Given the description of an element on the screen output the (x, y) to click on. 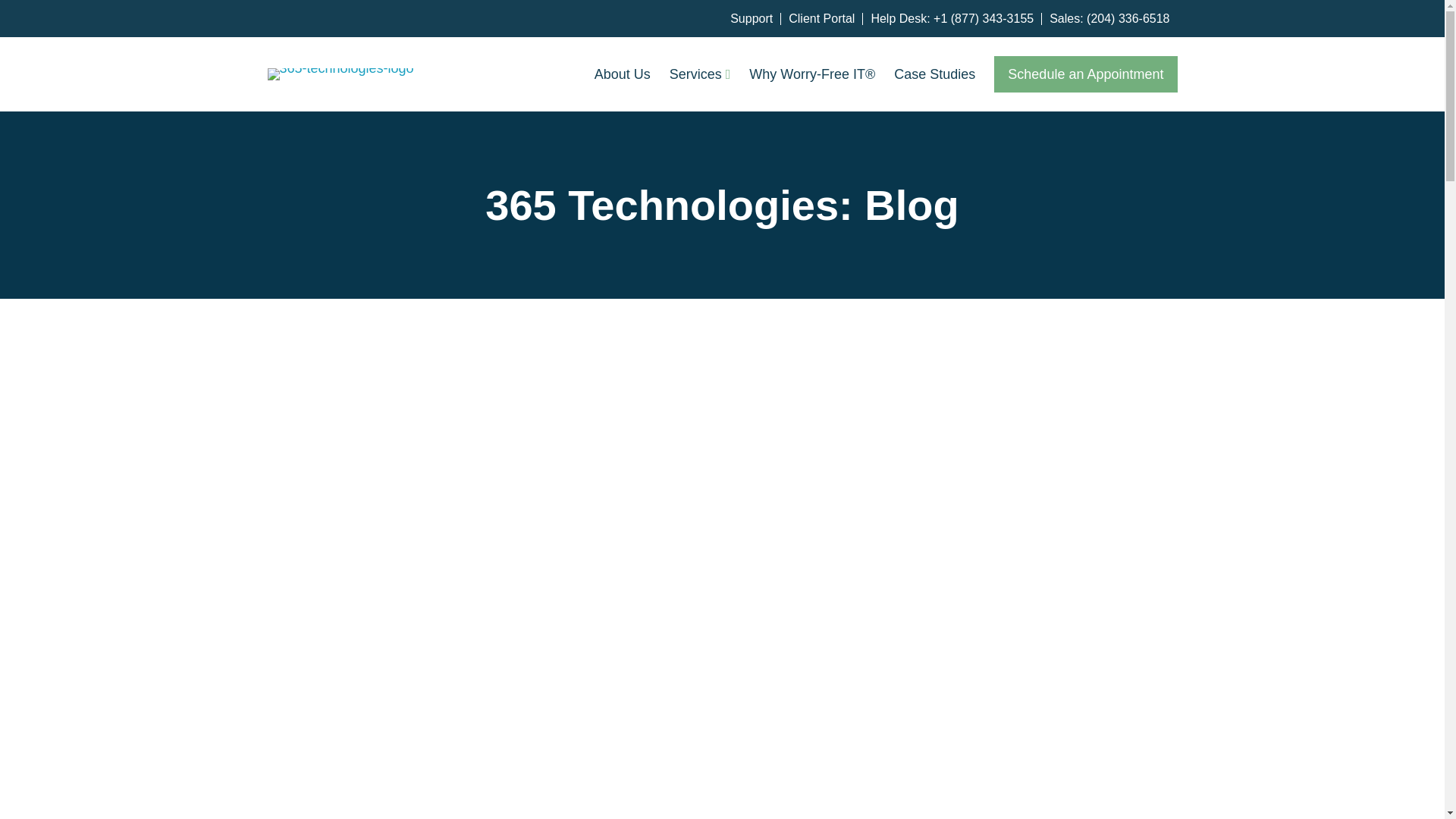
365-technologies-logo (339, 73)
Case Studies (934, 73)
Support (755, 19)
Schedule an Appointment (1085, 74)
Services (699, 73)
Client Portal (826, 19)
About Us (622, 73)
